Given the description of an element on the screen output the (x, y) to click on. 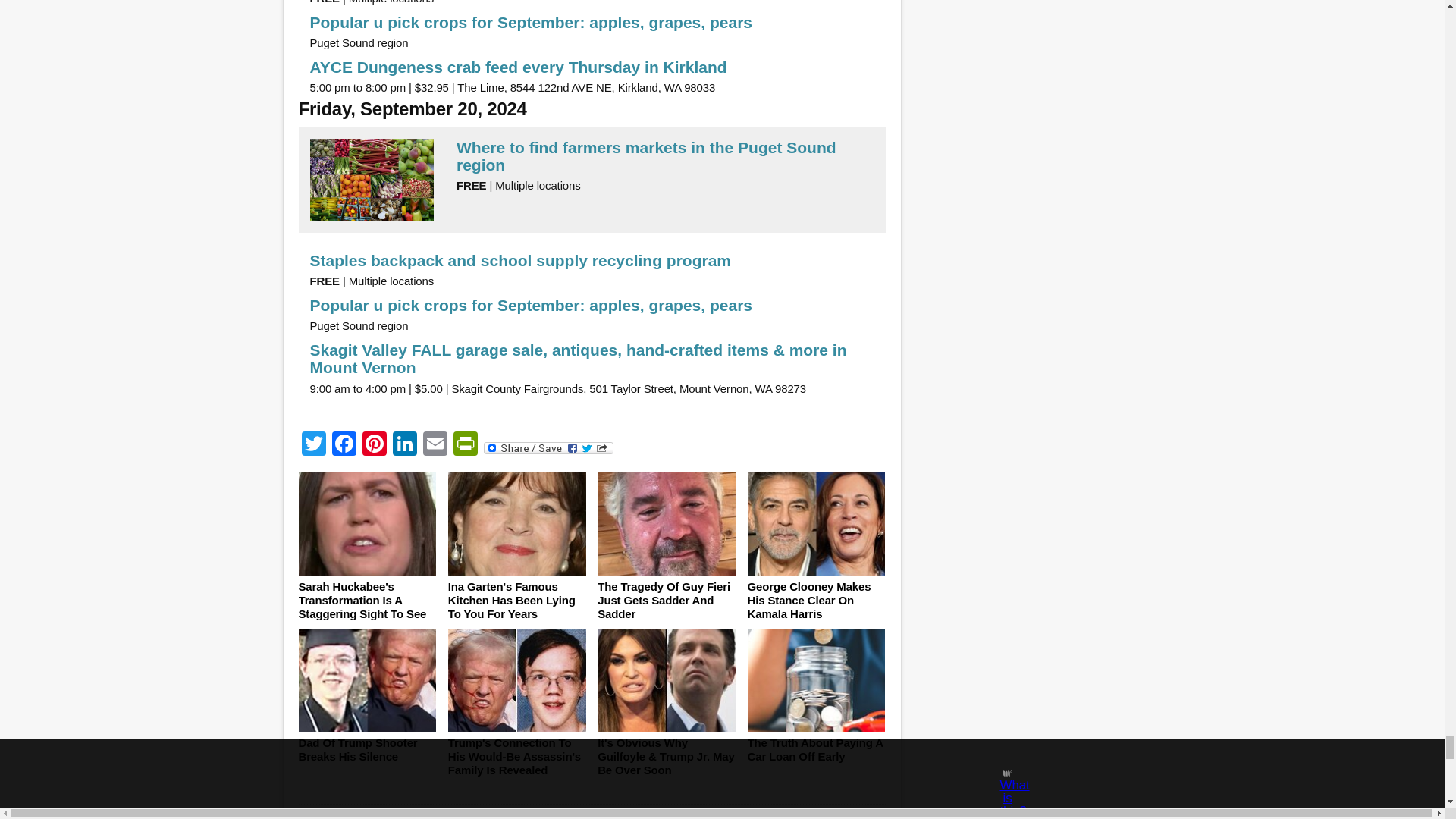
Email (434, 445)
Facebook (344, 445)
Pinterest (374, 445)
PrintFriendly (464, 445)
LinkedIn (405, 445)
Twitter (313, 445)
